Given the description of an element on the screen output the (x, y) to click on. 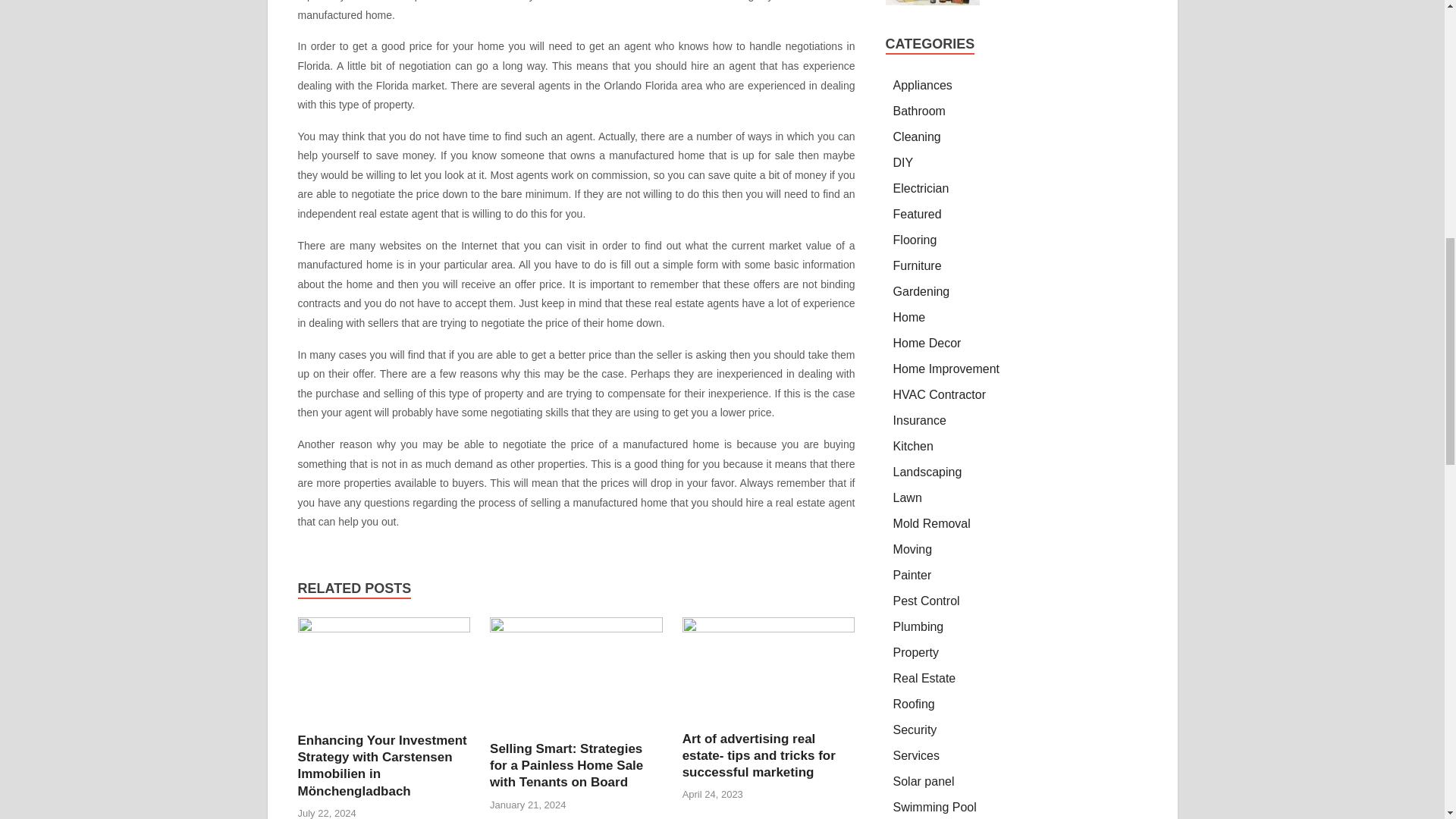
sunbelthomesales.com (662, 0)
